Given the description of an element on the screen output the (x, y) to click on. 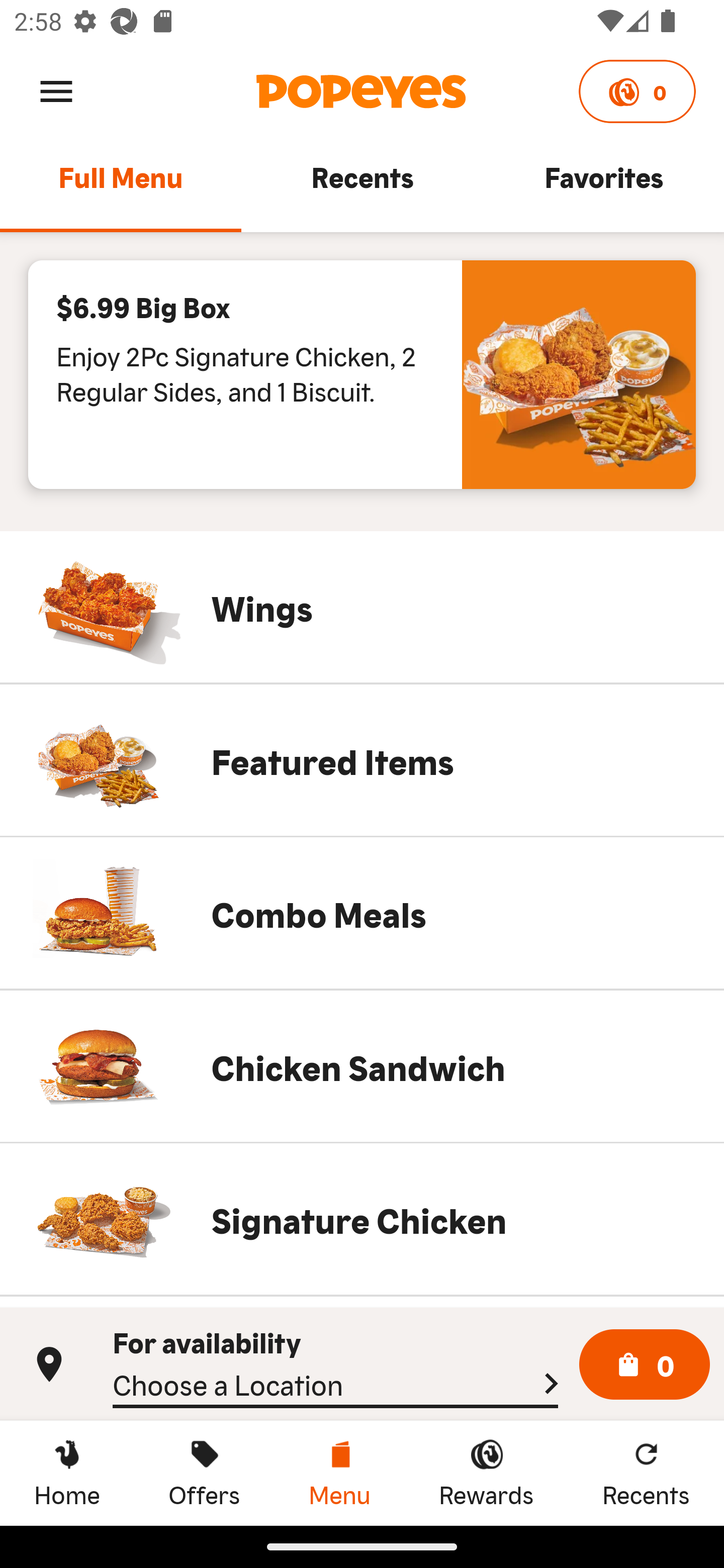
Menu  (56, 90)
0 Points 0 (636, 91)
Full Menu (120, 186)
Recents (361, 186)
Favorites (603, 186)
Wings, Wings Wings Wings (362, 606)
0 Cart total  0 (644, 1364)
Home Home Home (66, 1472)
Offers Offers Offers (203, 1472)
Menu, current page Menu Menu, current page (339, 1472)
Rewards Rewards Rewards (486, 1472)
Recents Recents Recents (646, 1472)
